Given the description of an element on the screen output the (x, y) to click on. 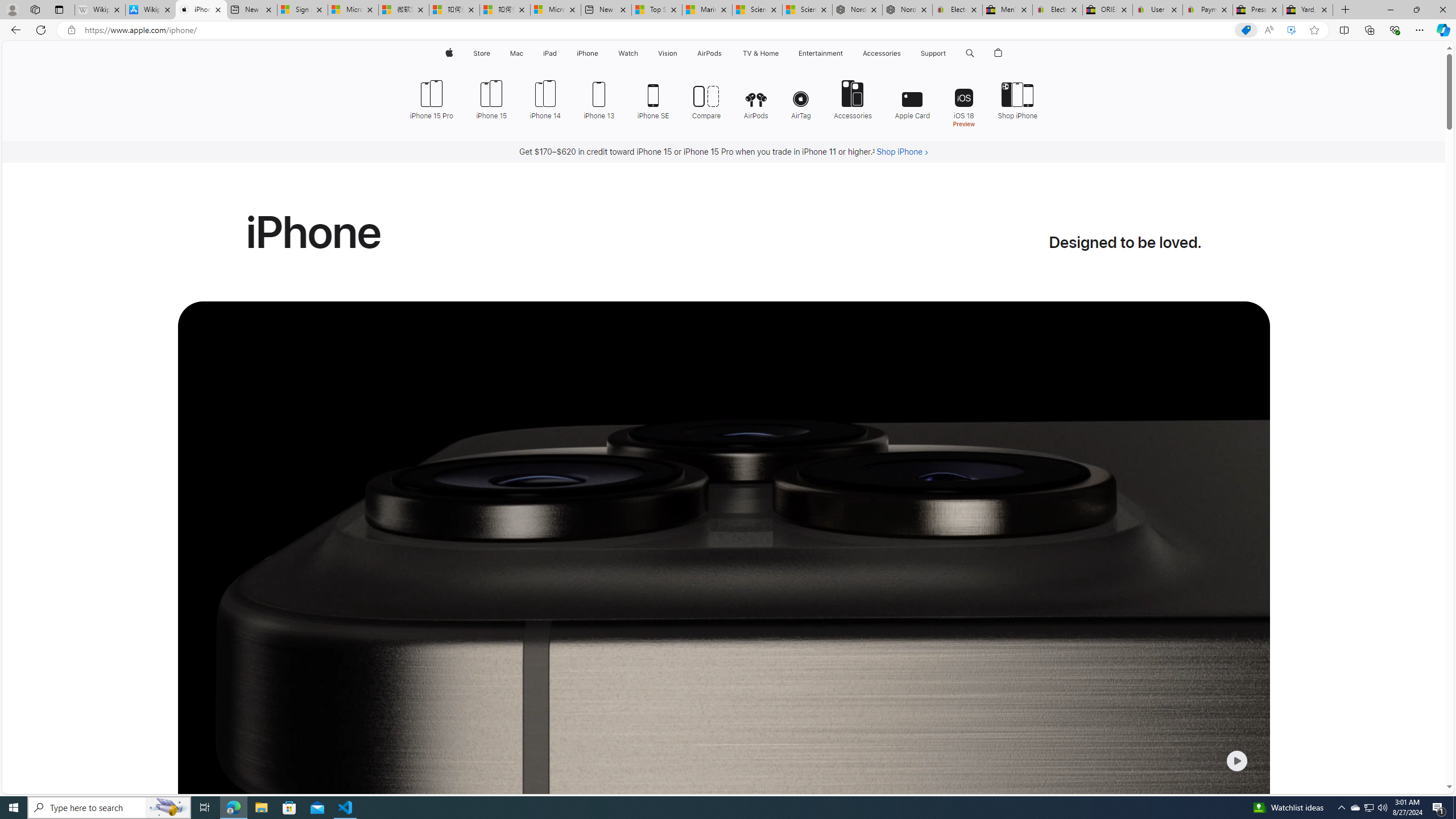
iPhone 13 (599, 98)
iPhone SE (653, 98)
Shop iPhone (1012, 98)
Marine life - MSN (706, 9)
Mac menu (524, 53)
iPad menu (557, 53)
Play welcome animation video (1236, 761)
Support menu (948, 53)
iPad (550, 53)
